Given the description of an element on the screen output the (x, y) to click on. 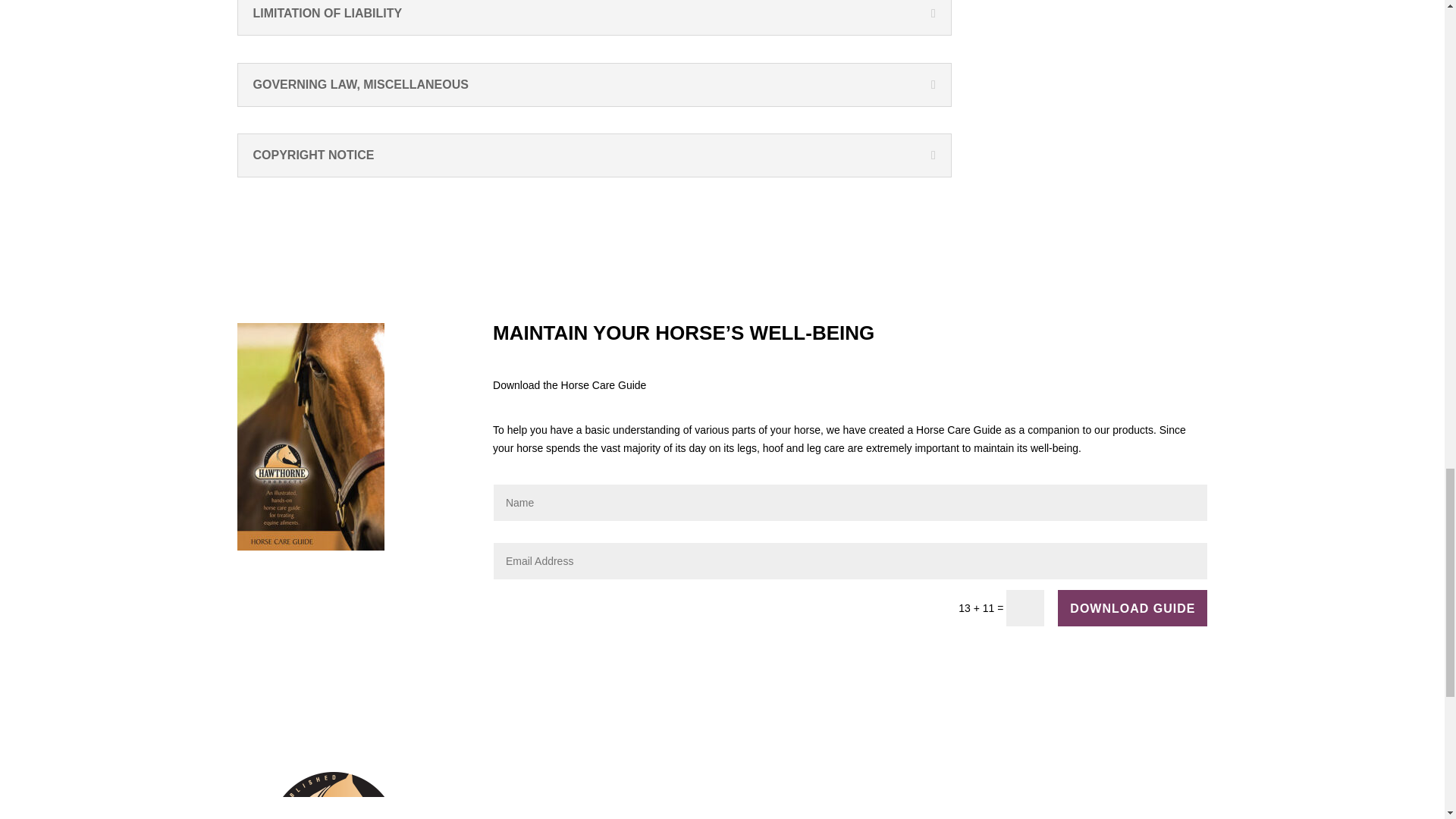
hawthorne-products-logo-gold (330, 795)
DOWNLOAD GUIDE (1132, 607)
